Given the description of an element on the screen output the (x, y) to click on. 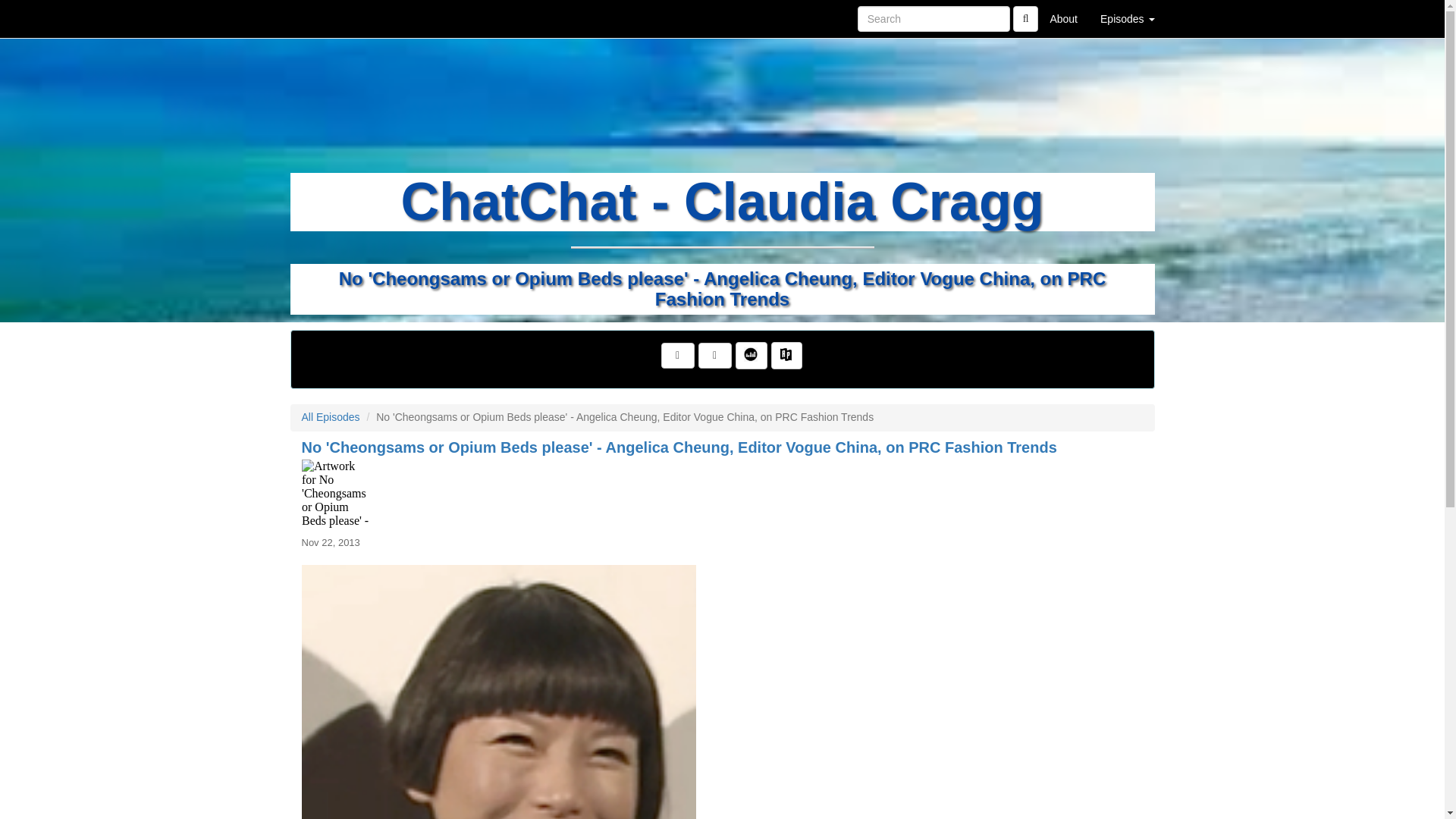
Home Page (320, 18)
Episodes (1127, 18)
About (1063, 18)
